Given the description of an element on the screen output the (x, y) to click on. 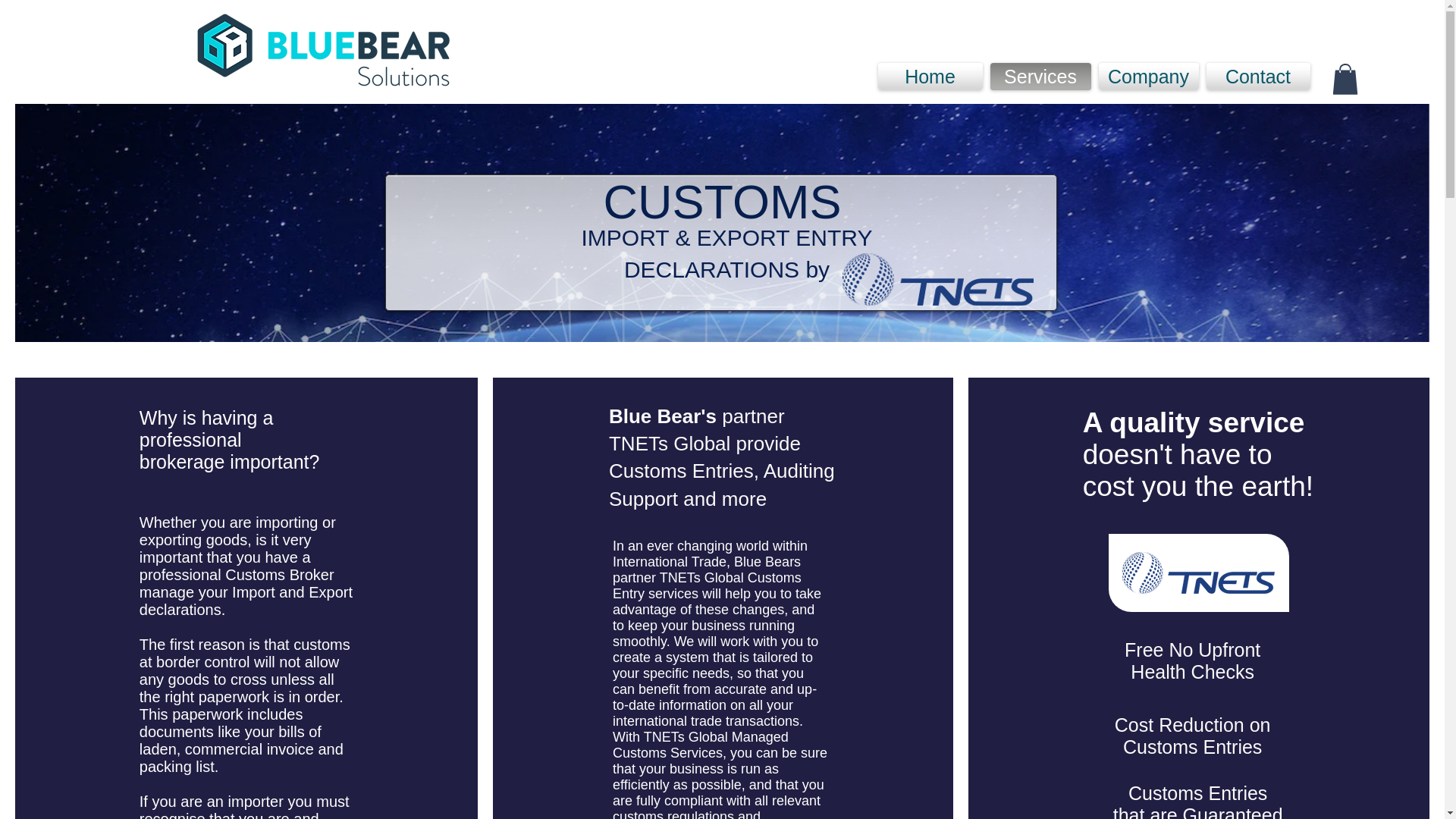
Contact (1256, 76)
Services (1039, 76)
Home (932, 76)
Company (1148, 76)
